Given the description of an element on the screen output the (x, y) to click on. 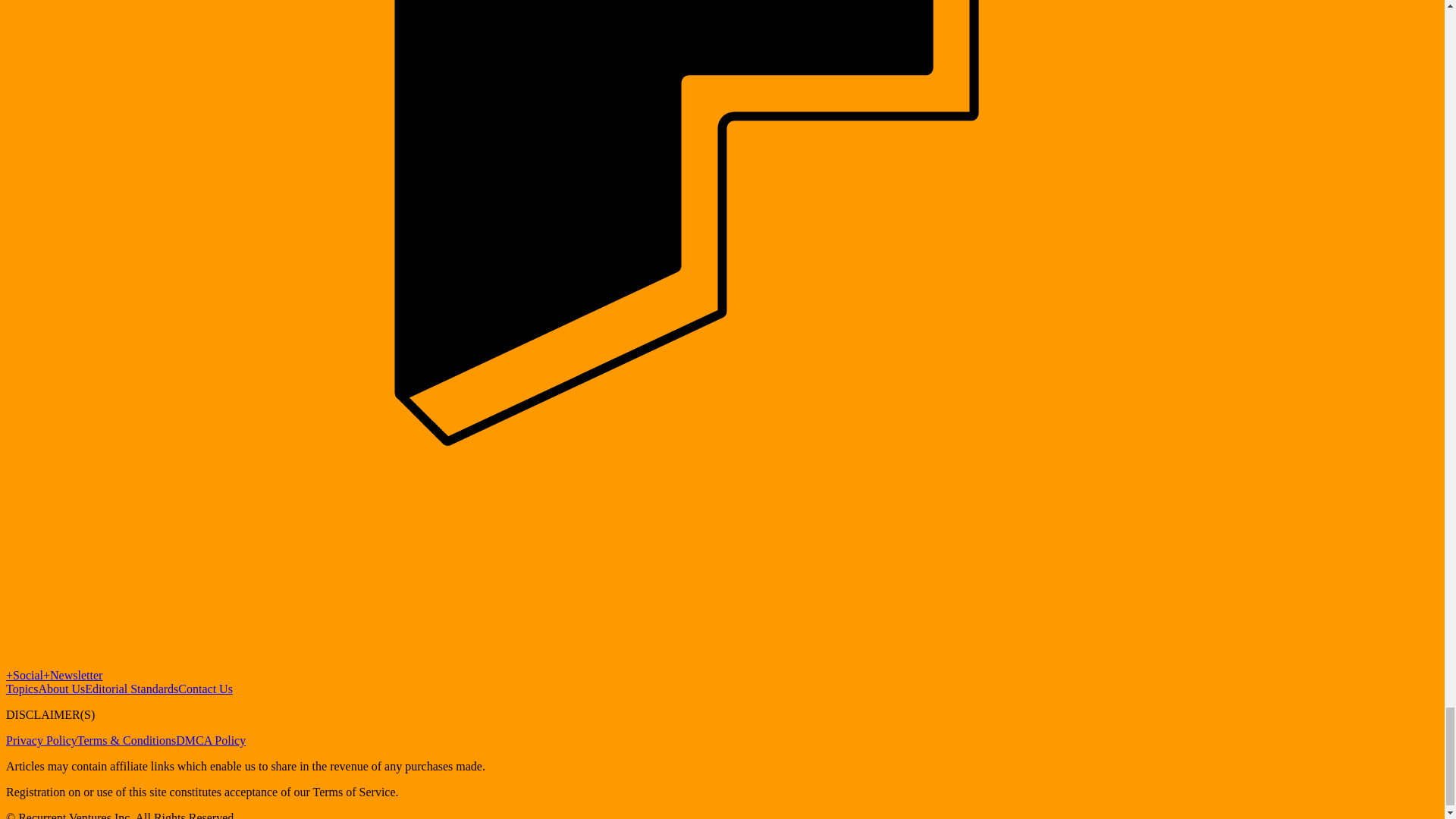
Topics (21, 688)
Contact Us (204, 688)
Editorial Standards (130, 688)
Privacy Policy (41, 739)
About Us (60, 688)
DMCA Policy (211, 739)
